Given the description of an element on the screen output the (x, y) to click on. 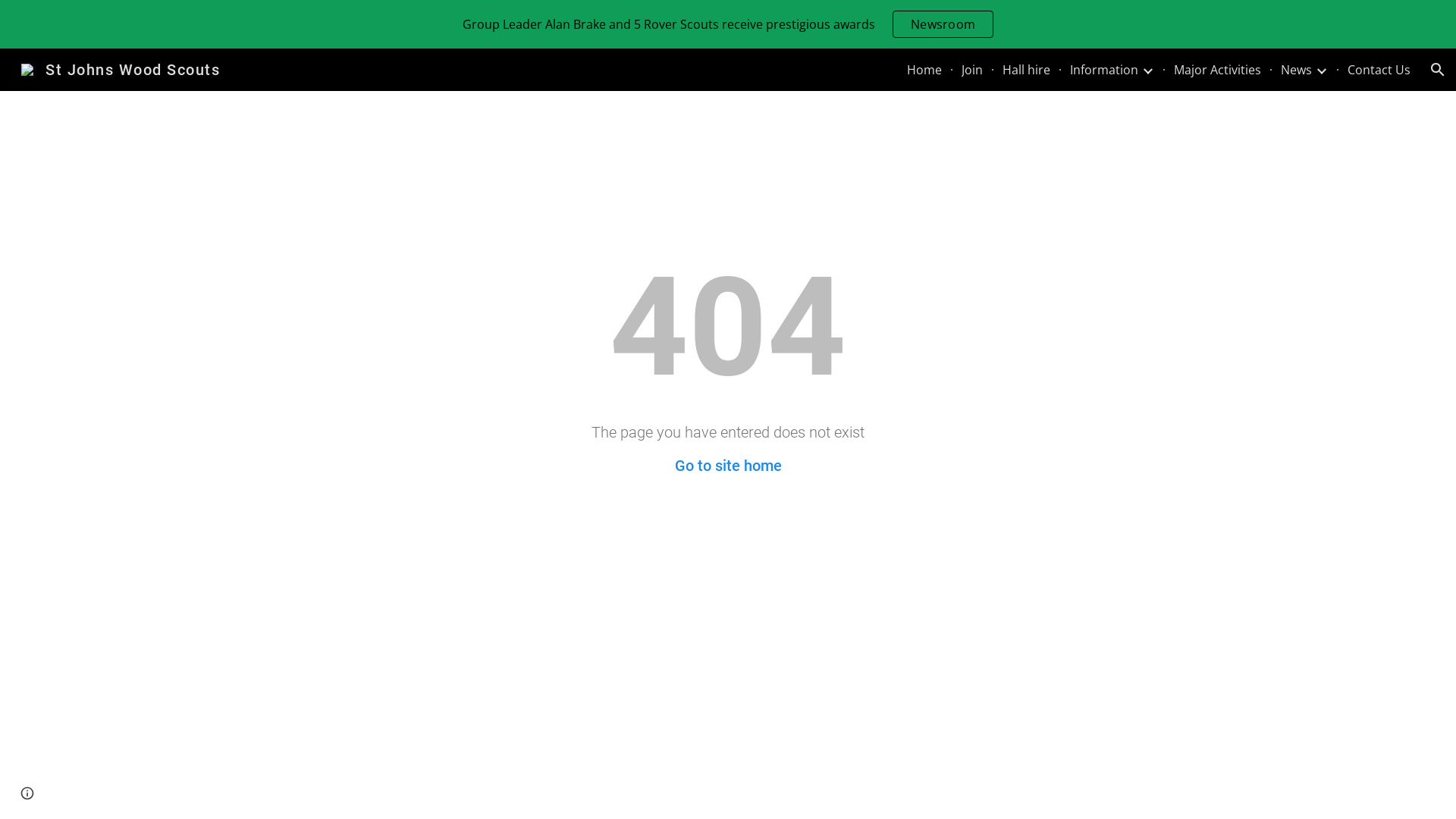
Expand/Collapse Element type: hover (1147, 69)
St Johns Wood Scouts Element type: text (120, 68)
Go to site home Element type: text (727, 465)
Expand/Collapse Element type: hover (1320, 69)
Home Element type: text (923, 69)
Hall hire Element type: text (1026, 69)
News Element type: text (1295, 69)
Contact Us Element type: text (1378, 69)
Information Element type: text (1104, 69)
Join Element type: text (971, 69)
Newsroom Element type: text (942, 24)
Major Activities Element type: text (1217, 69)
